Given the description of an element on the screen output the (x, y) to click on. 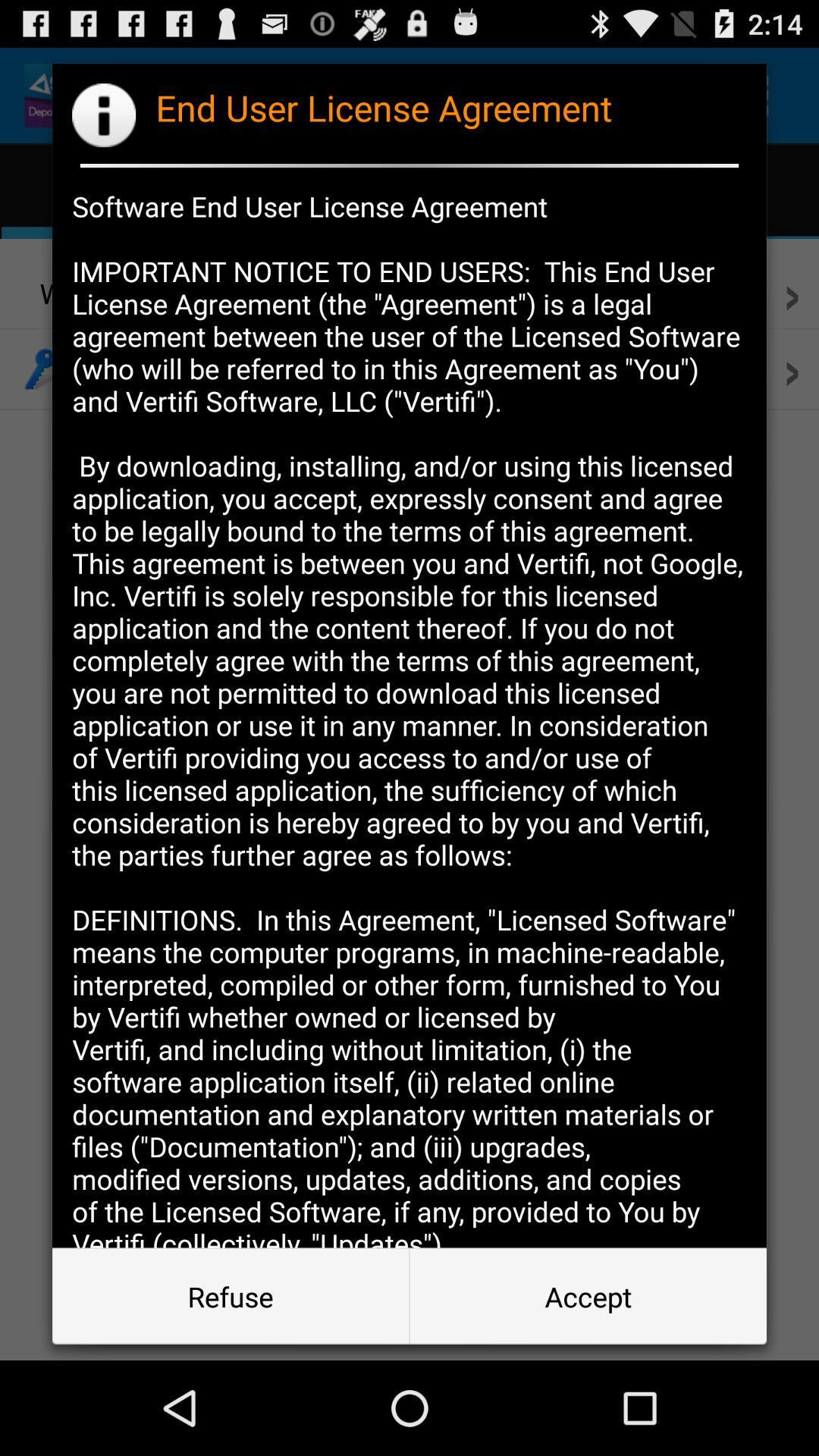
choose item at the bottom left corner (230, 1296)
